Given the description of an element on the screen output the (x, y) to click on. 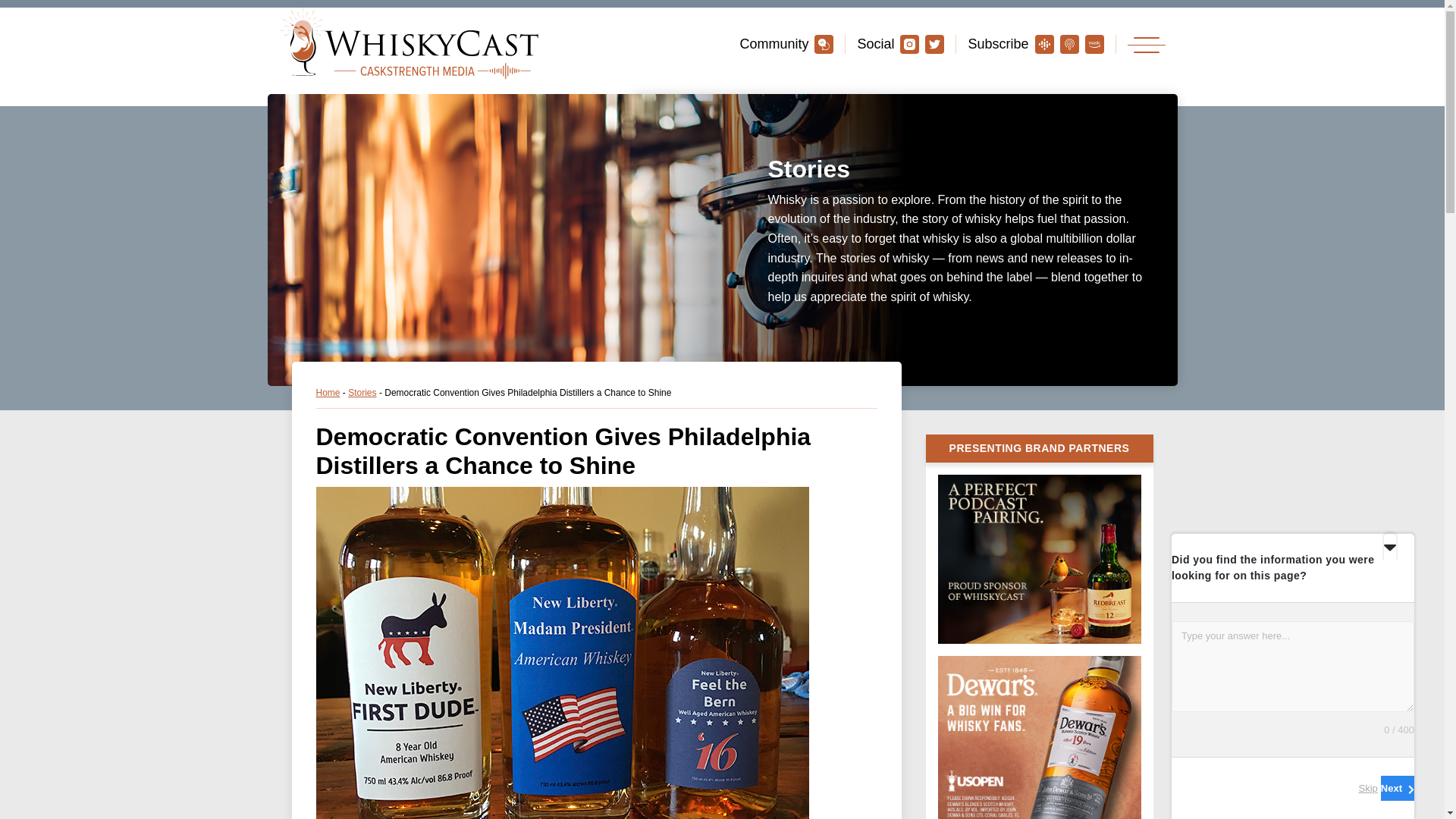
Stories (361, 392)
Home (327, 392)
